Given the description of an element on the screen output the (x, y) to click on. 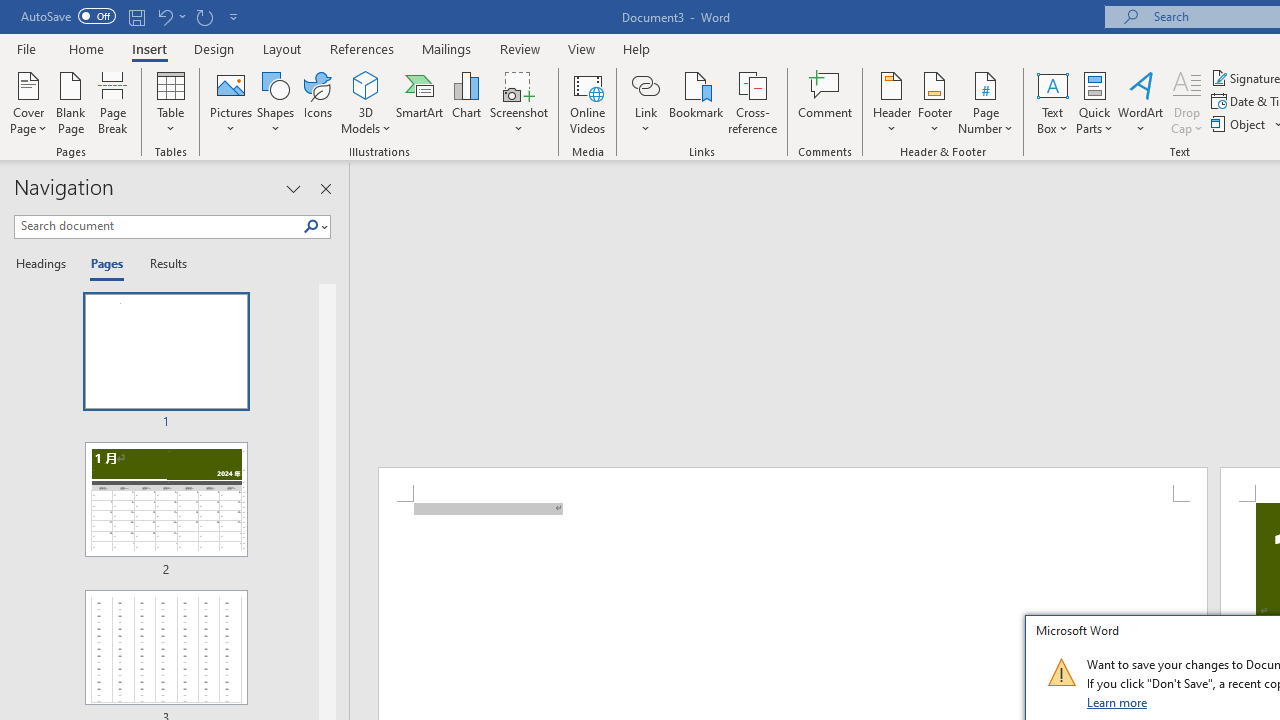
Online Videos... (588, 102)
Chart... (466, 102)
Icons (317, 102)
WordArt (1141, 102)
SmartArt... (419, 102)
3D Models (366, 84)
